Given the description of an element on the screen output the (x, y) to click on. 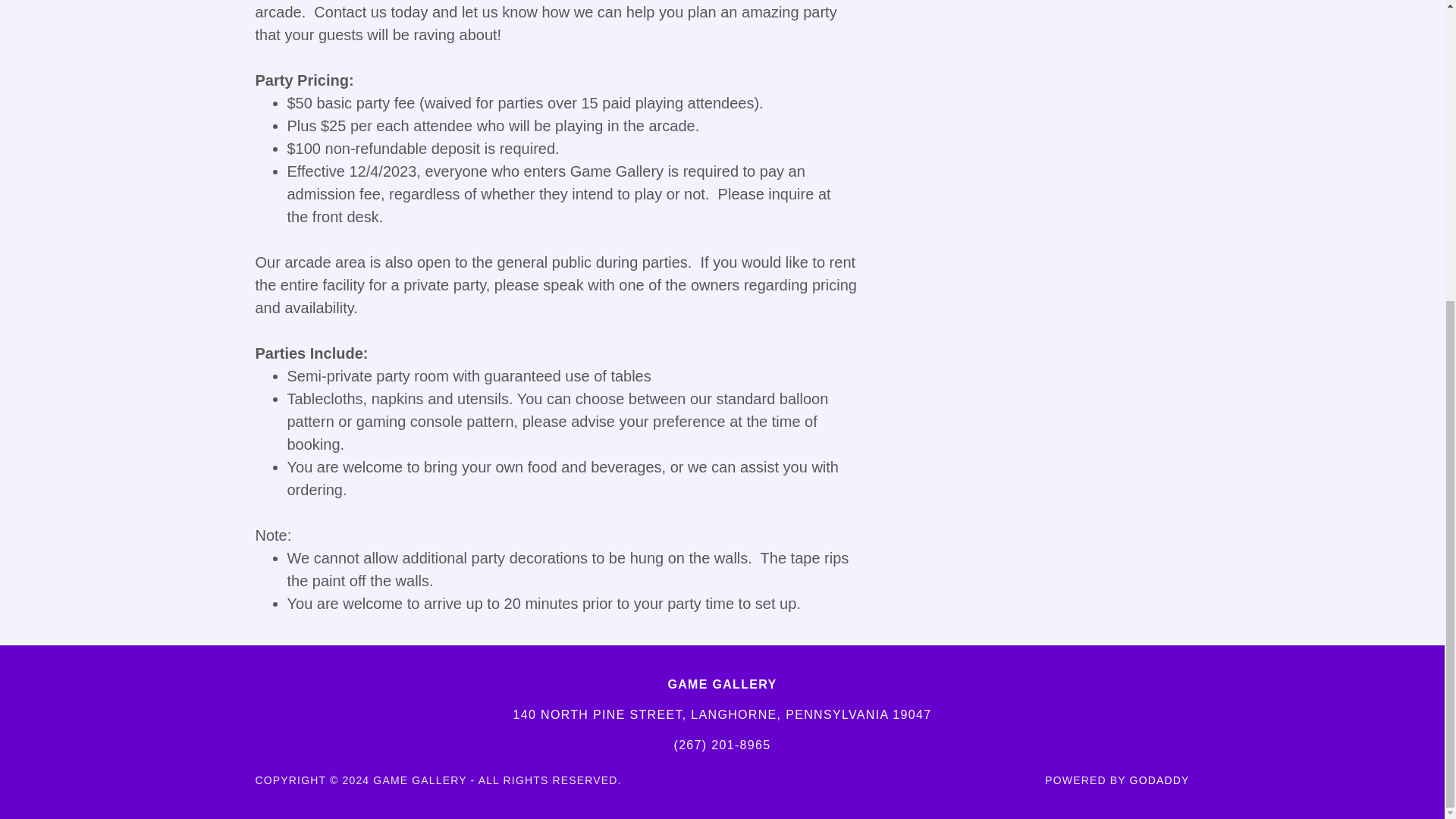
GODADDY (1159, 779)
